Given the description of an element on the screen output the (x, y) to click on. 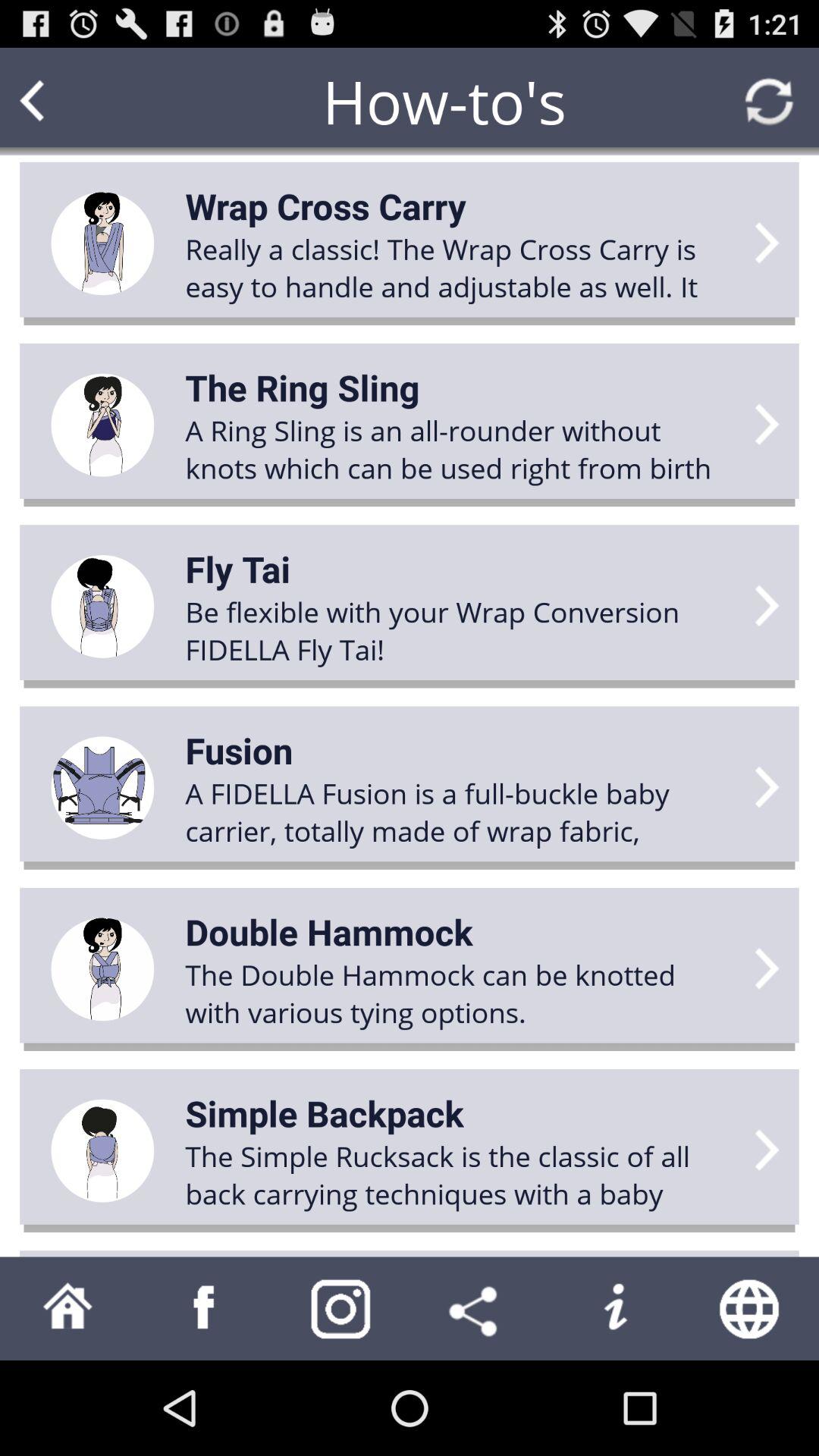
go home (68, 1308)
